Given the description of an element on the screen output the (x, y) to click on. 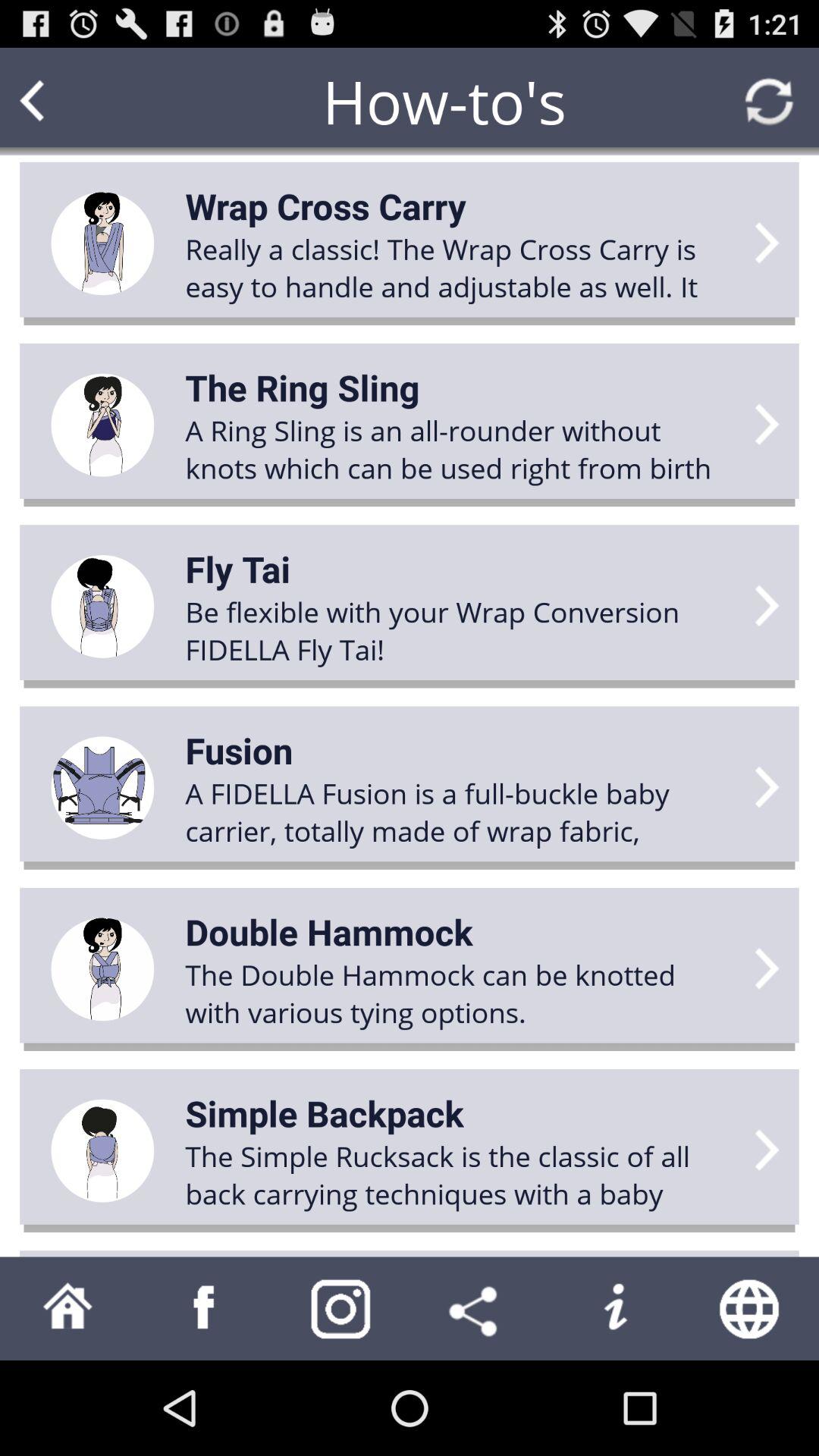
go home (68, 1308)
